Given the description of an element on the screen output the (x, y) to click on. 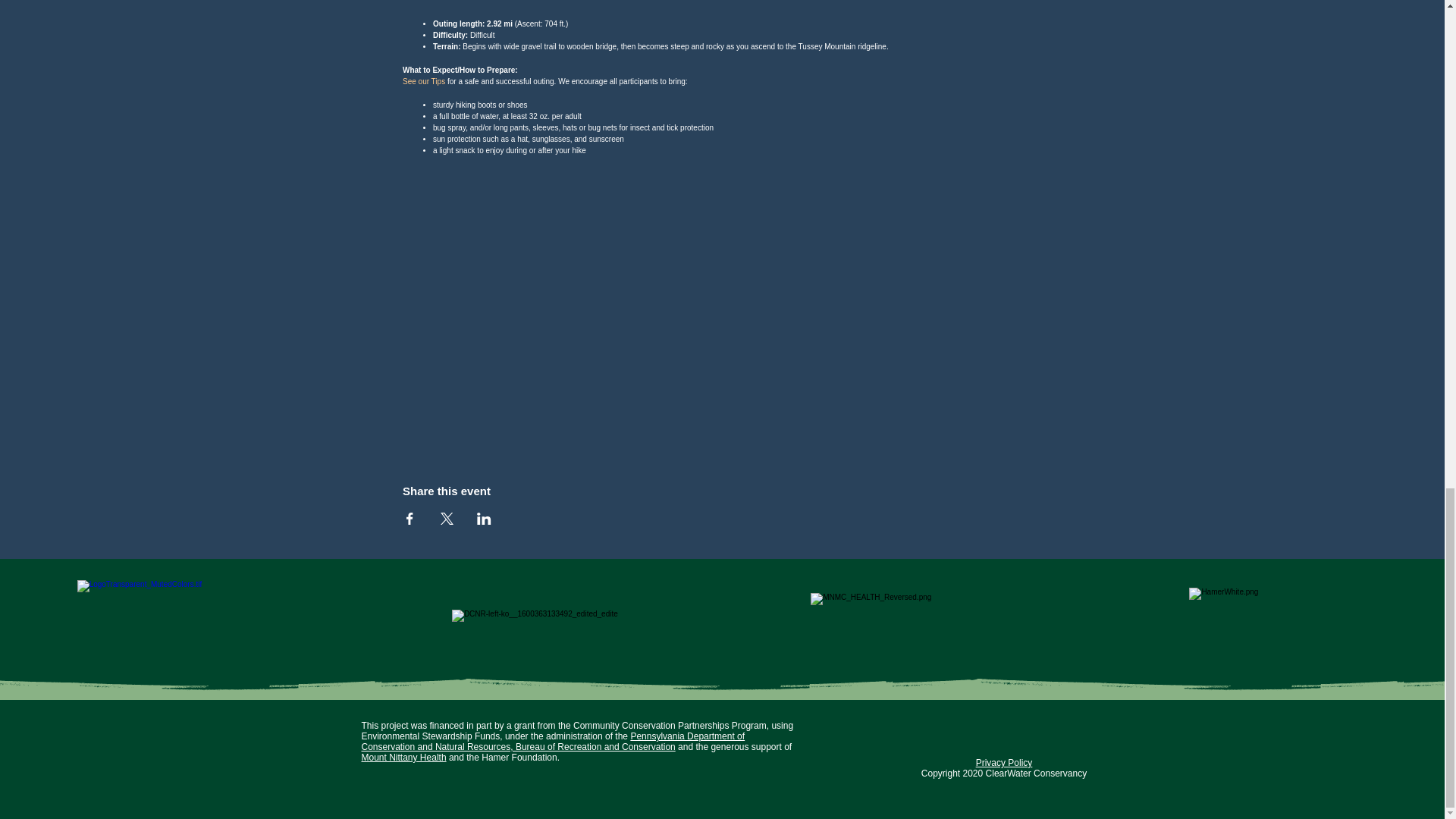
See our Tips (424, 80)
Mount Nittany Health (403, 757)
